Given the description of an element on the screen output the (x, y) to click on. 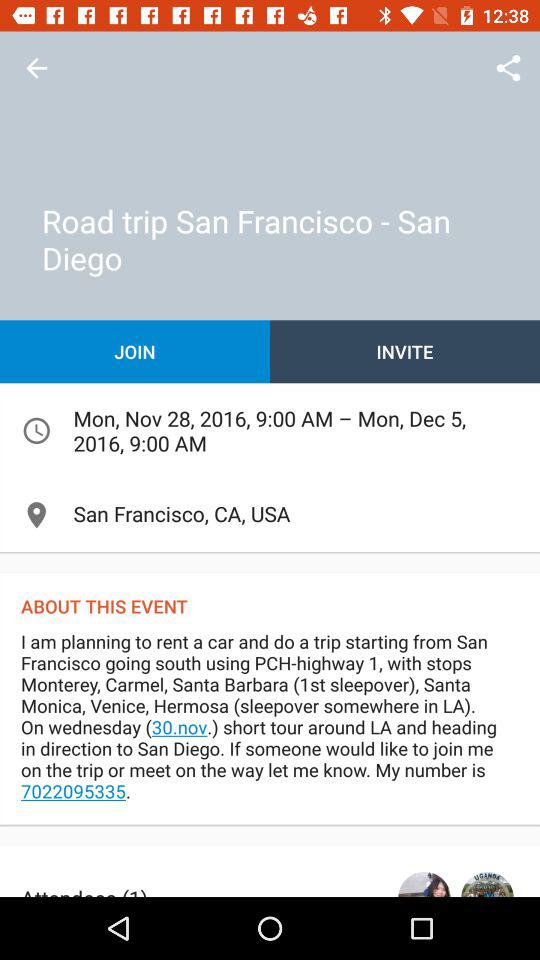
select icon above invite item (508, 67)
